Given the description of an element on the screen output the (x, y) to click on. 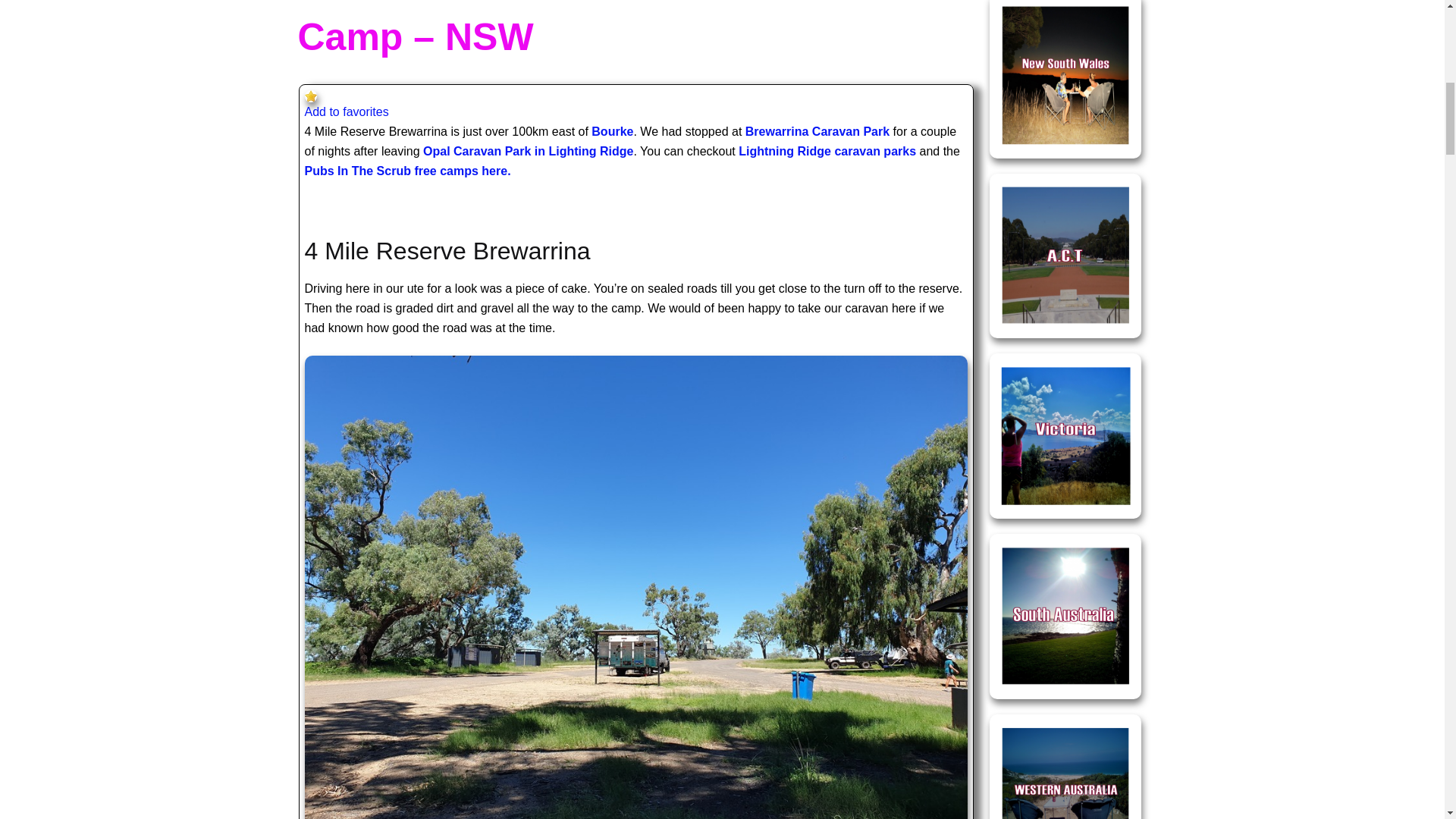
Favorite (310, 96)
Add to favorites (346, 111)
